Given the description of an element on the screen output the (x, y) to click on. 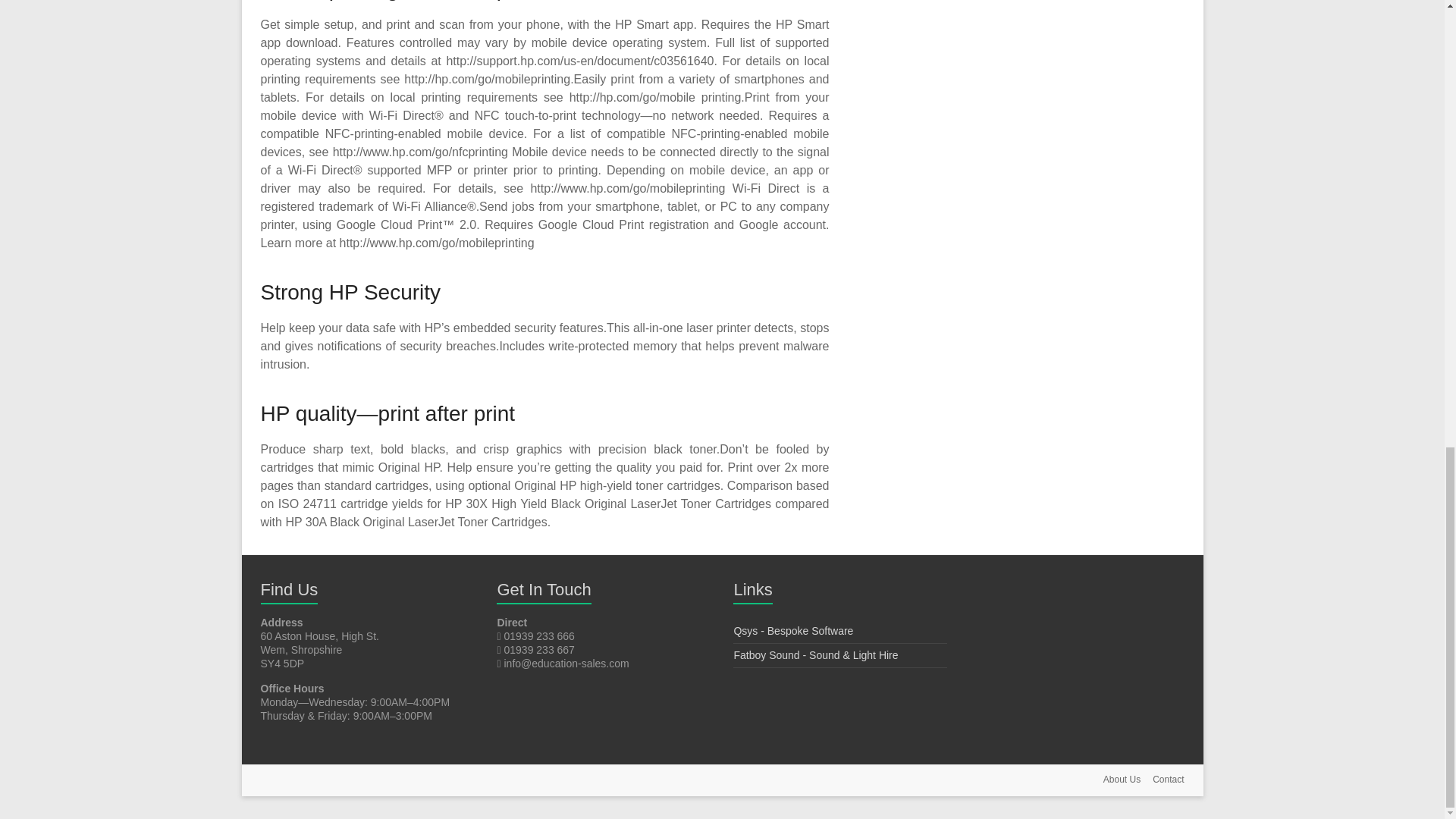
About Us (1115, 780)
Contact (1161, 780)
Qsys - Bespoke Software (793, 630)
